Given the description of an element on the screen output the (x, y) to click on. 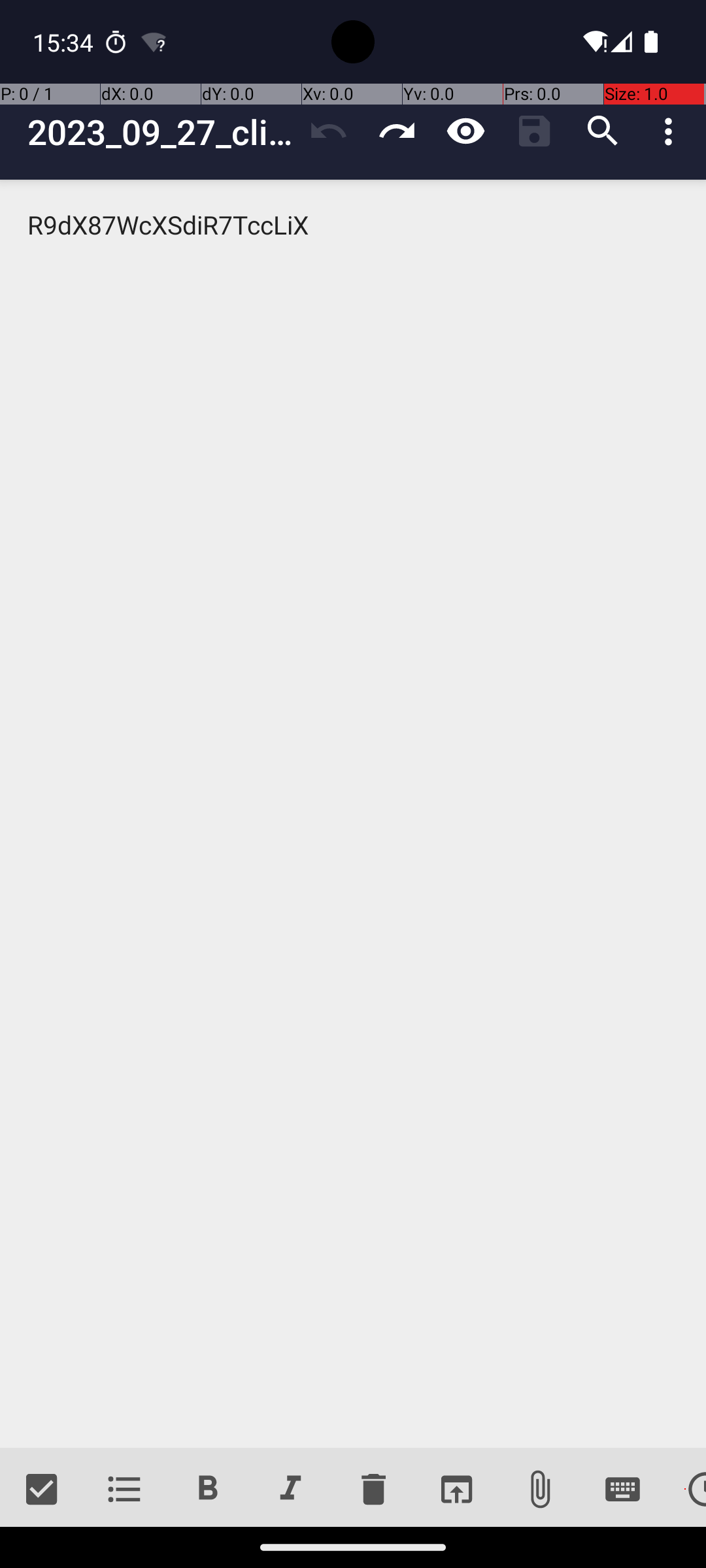
2023_09_27_client_meetings_schedule Element type: android.widget.TextView (160, 131)
Undo Element type: android.widget.TextView (328, 131)
Redo Element type: android.widget.TextView (396, 131)
View mode Element type: android.widget.TextView (465, 131)
R9dX87WcXSdiR7TccLiX Element type: android.widget.EditText (353, 813)
Check list Element type: android.widget.ImageView (41, 1488)
Unordered list Element type: android.widget.ImageView (124, 1488)
Bold Element type: android.widget.ImageView (207, 1488)
Italic Element type: android.widget.ImageView (290, 1488)
Delete lines Element type: android.widget.ImageView (373, 1488)
Open link Element type: android.widget.ImageView (456, 1488)
Attach Element type: android.widget.ImageView (539, 1488)
Special Key Element type: android.widget.ImageView (622, 1488)
Date and time Element type: android.widget.ImageView (685, 1488)
Android System notification: AndroidWifi has limited connectivity Element type: android.widget.ImageView (153, 41)
Wifi signal full.,No internet Element type: android.widget.FrameLayout (593, 41)
